Given the description of an element on the screen output the (x, y) to click on. 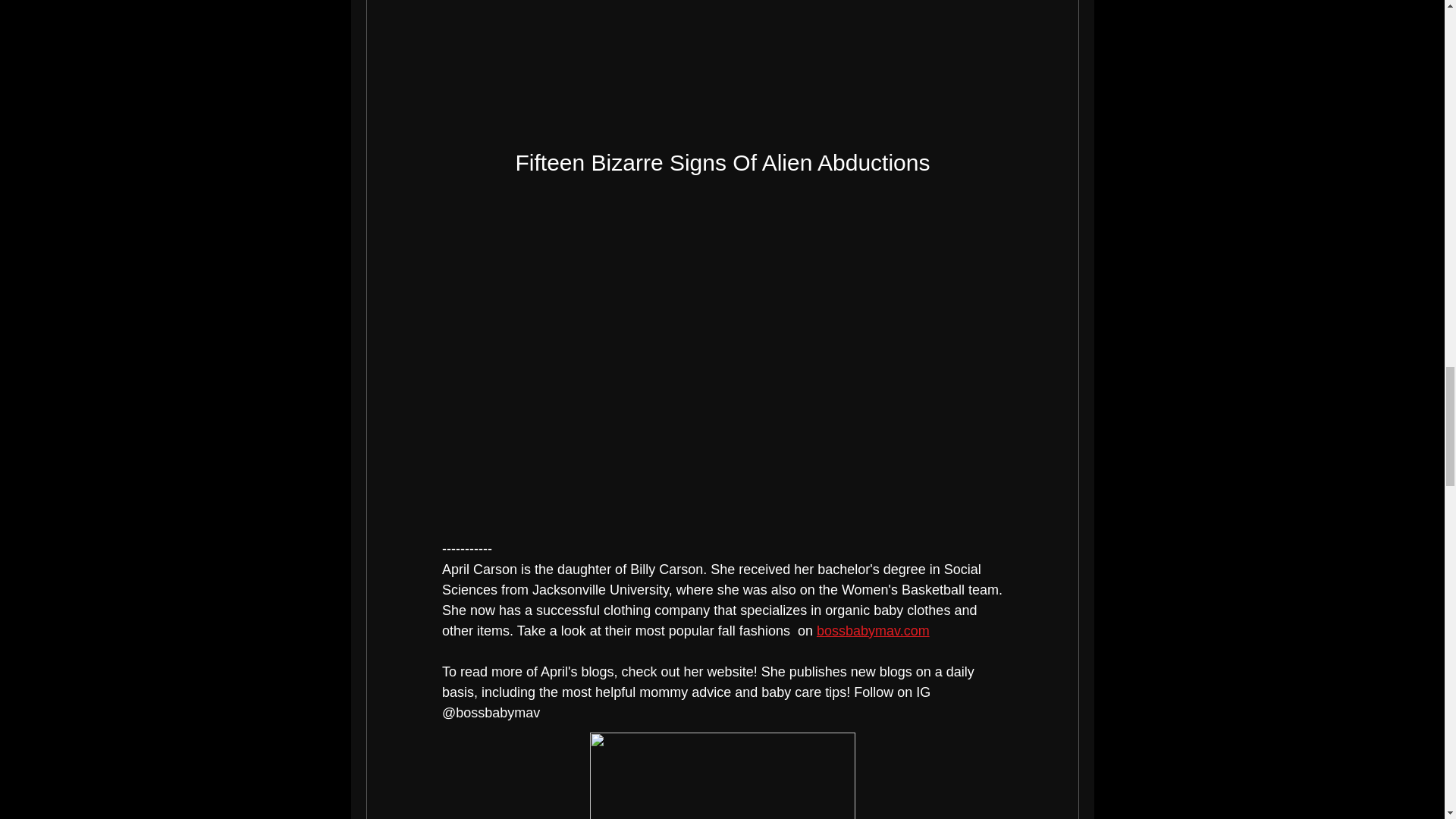
ricos-video (722, 237)
bossbabymav.com (871, 630)
